Given the description of an element on the screen output the (x, y) to click on. 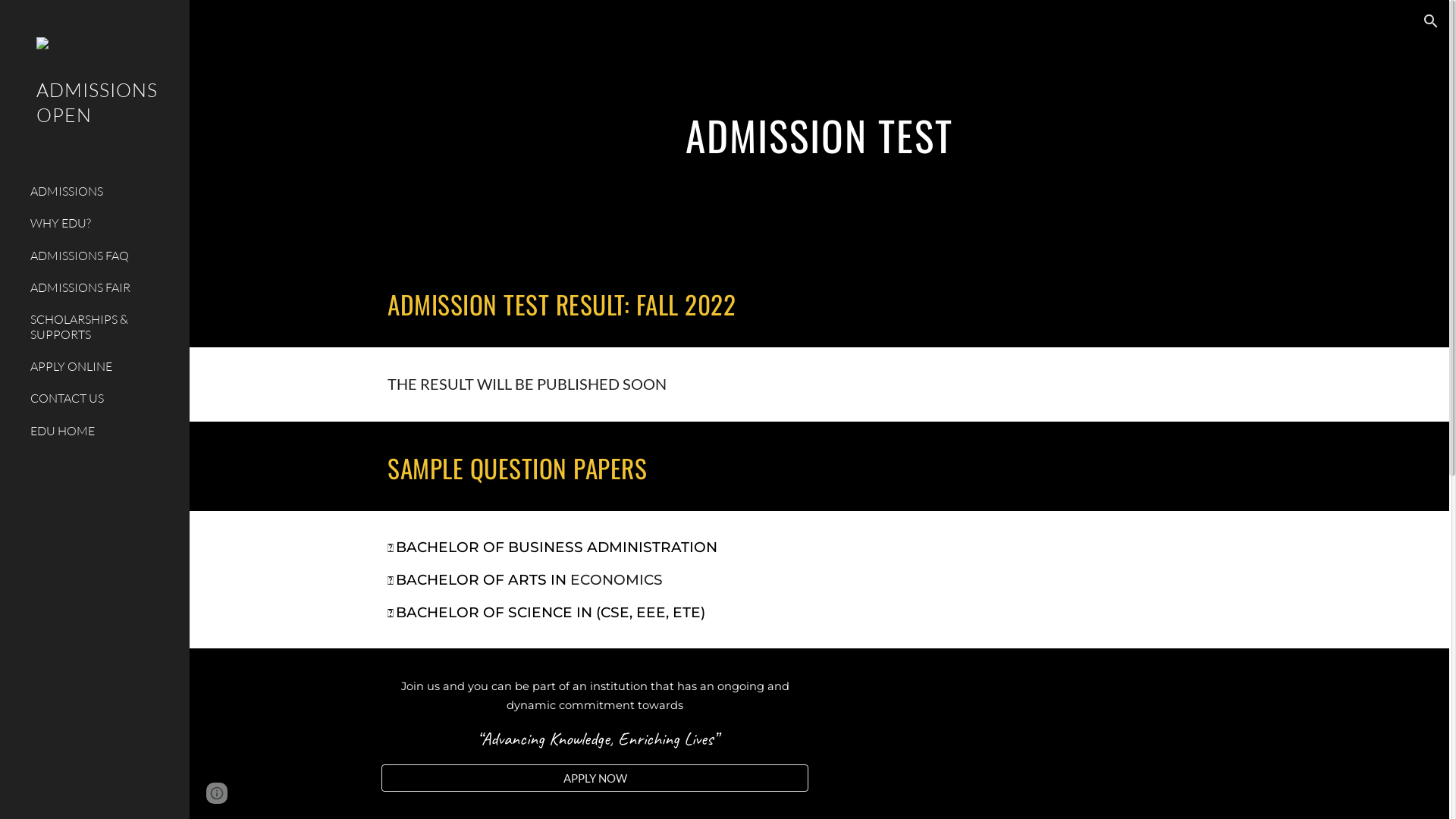
BACHELOR OF ARTS IN Element type: text (482, 580)
CONTACT US Element type: text (103, 398)
APPLY NOW Element type: text (594, 777)
EDU HOME Element type: text (103, 430)
BACHELOR OF BUSINESS ADMINISTRATION Element type: text (556, 547)
ADMISSIONS FAIR Element type: text (103, 287)
WHY EDU? Element type: text (103, 223)
ADMISSIONS OPEN Element type: text (94, 122)
SCHOLARSHIPS & SUPPORTS Element type: text (103, 327)
ADMISSIONS Element type: text (103, 191)
APPLY ONLINE Element type: text (103, 366)
ADMISSIONS FAQ Element type: text (103, 255)
